Given the description of an element on the screen output the (x, y) to click on. 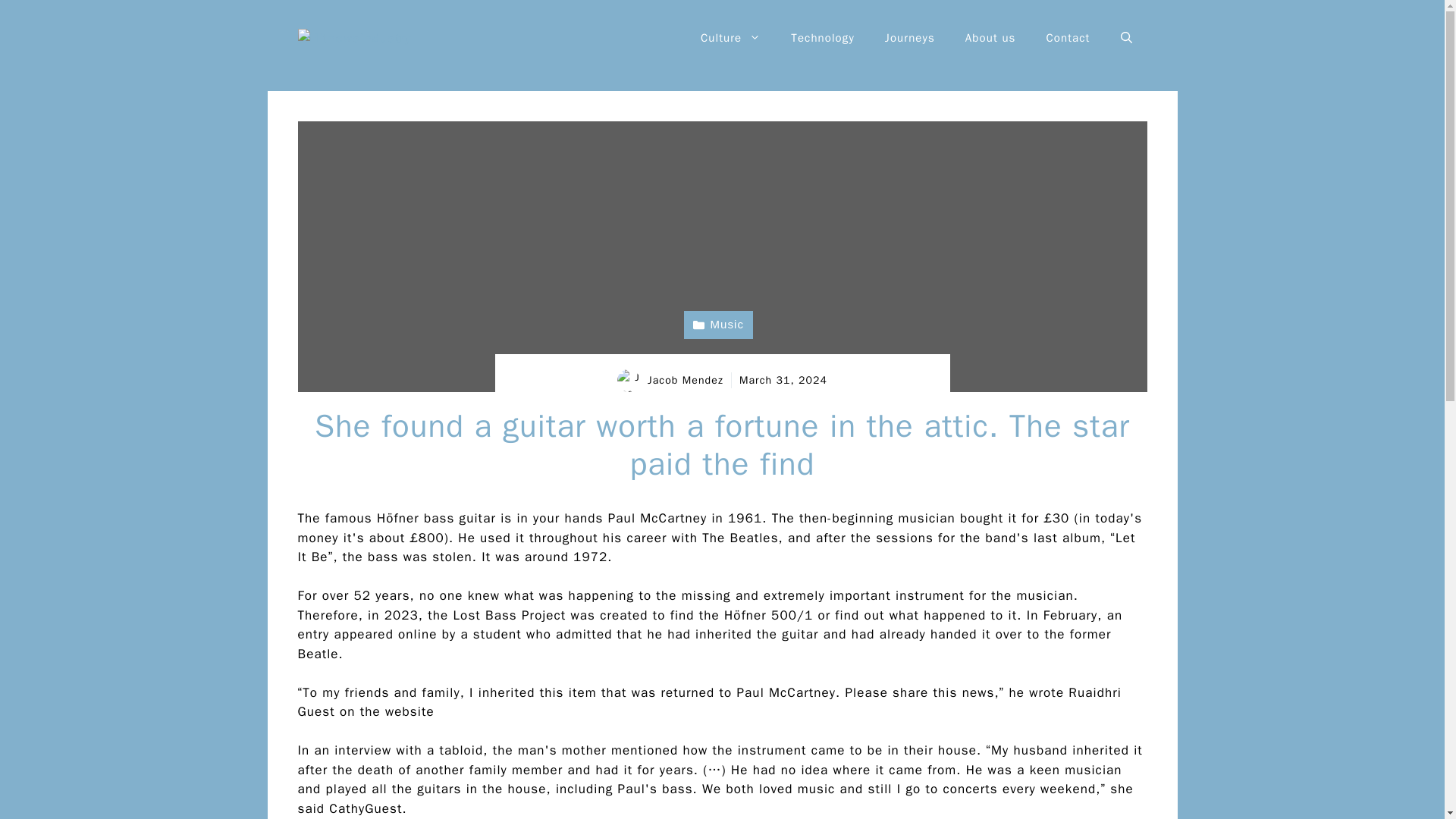
Journeys (909, 37)
Contact (1067, 37)
Technology (822, 37)
Music (718, 325)
Culture (730, 37)
About us (990, 37)
